Given the description of an element on the screen output the (x, y) to click on. 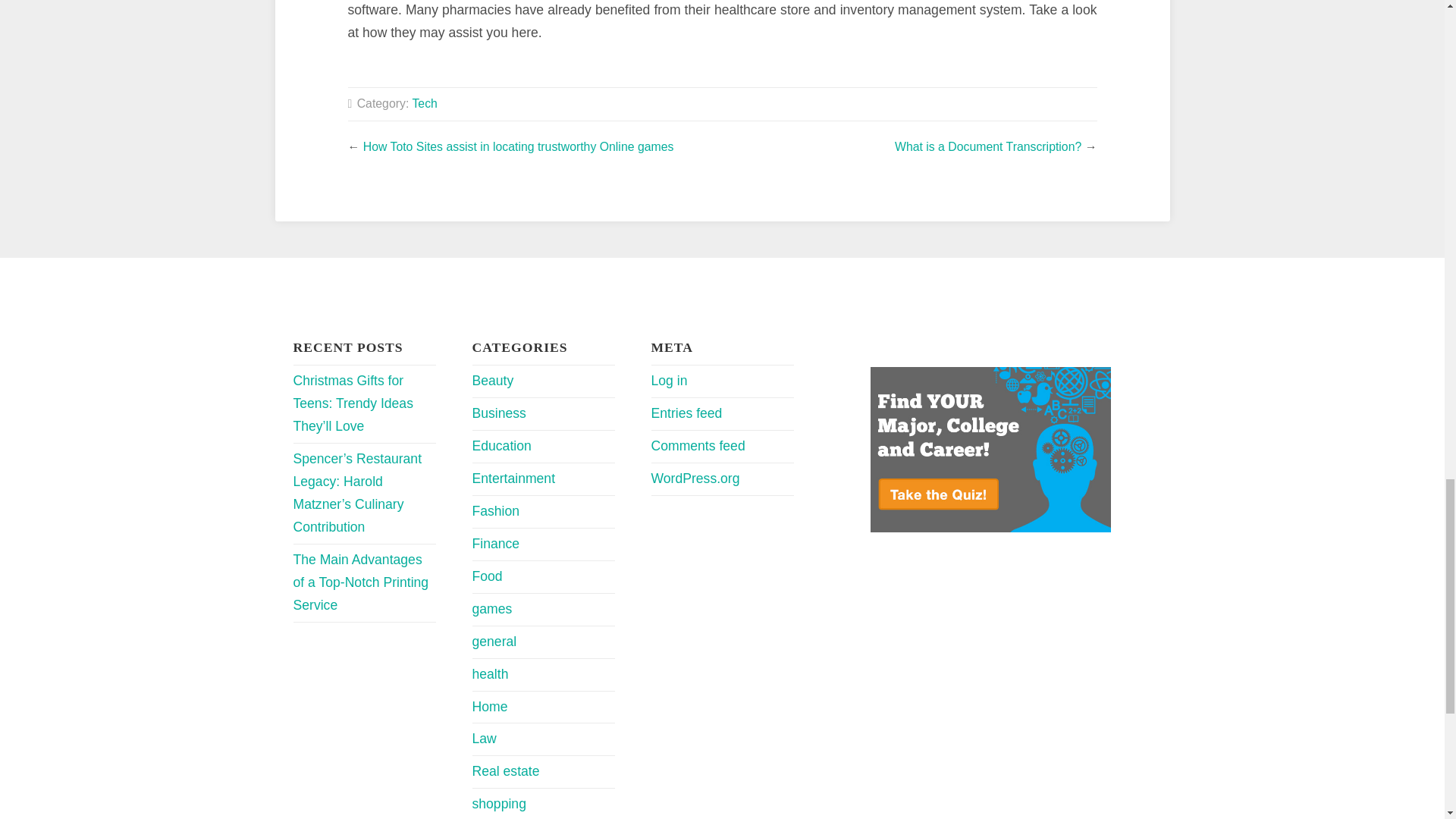
Food (486, 575)
How Toto Sites assist in locating trustworthy Online games (518, 146)
games (491, 608)
Comments feed (697, 445)
Tech (424, 103)
What is a Document Transcription? (988, 146)
health (489, 673)
general (493, 641)
Entertainment (512, 478)
Finance (495, 543)
